Given the description of an element on the screen output the (x, y) to click on. 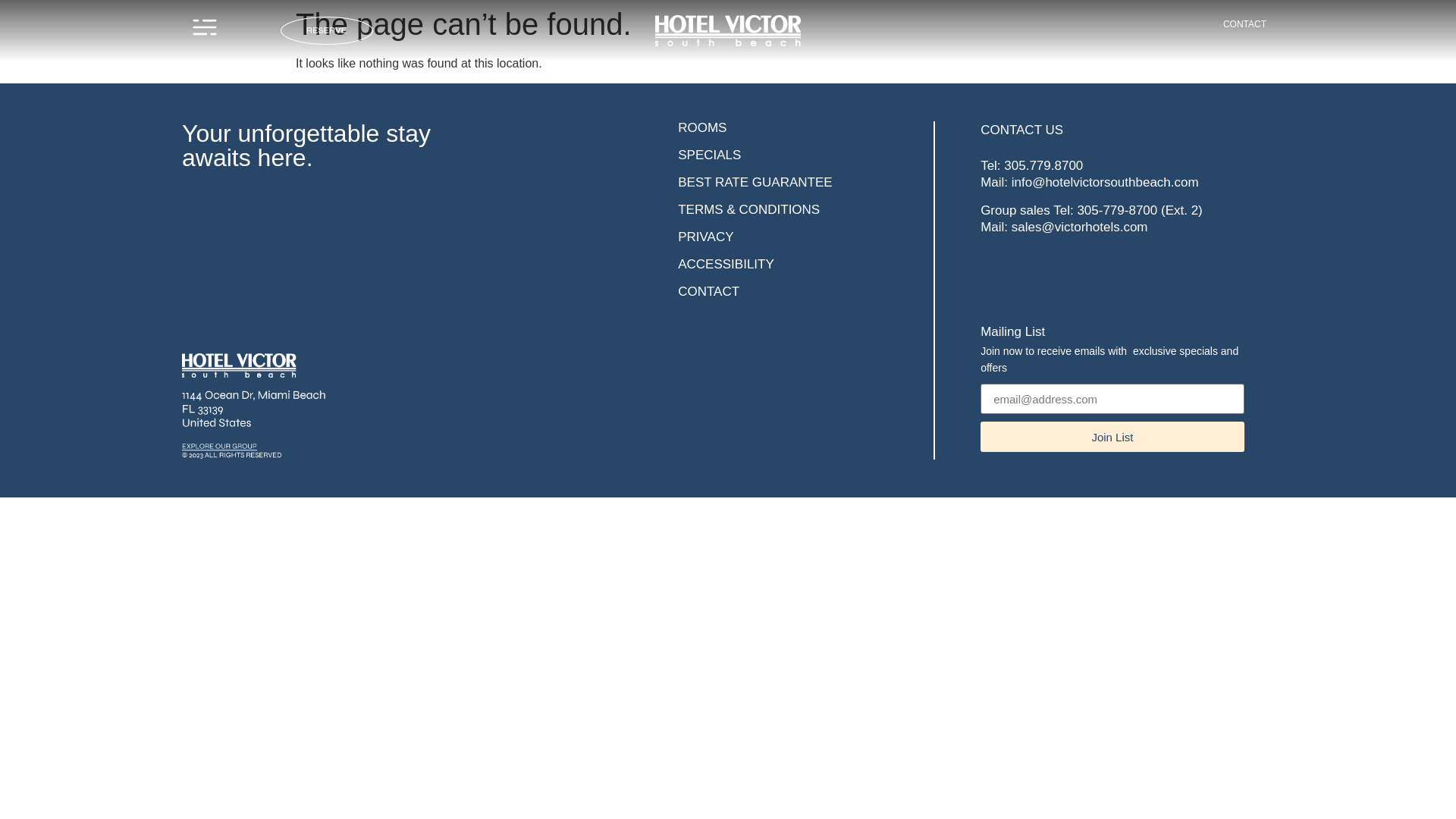
    CONTACT (1239, 23)
Join List (1111, 436)
ROOMS (702, 127)
ACCESSIBILITY (727, 264)
SPECIALS (711, 155)
CONTACT (708, 291)
PRIVACY (707, 237)
